Given the description of an element on the screen output the (x, y) to click on. 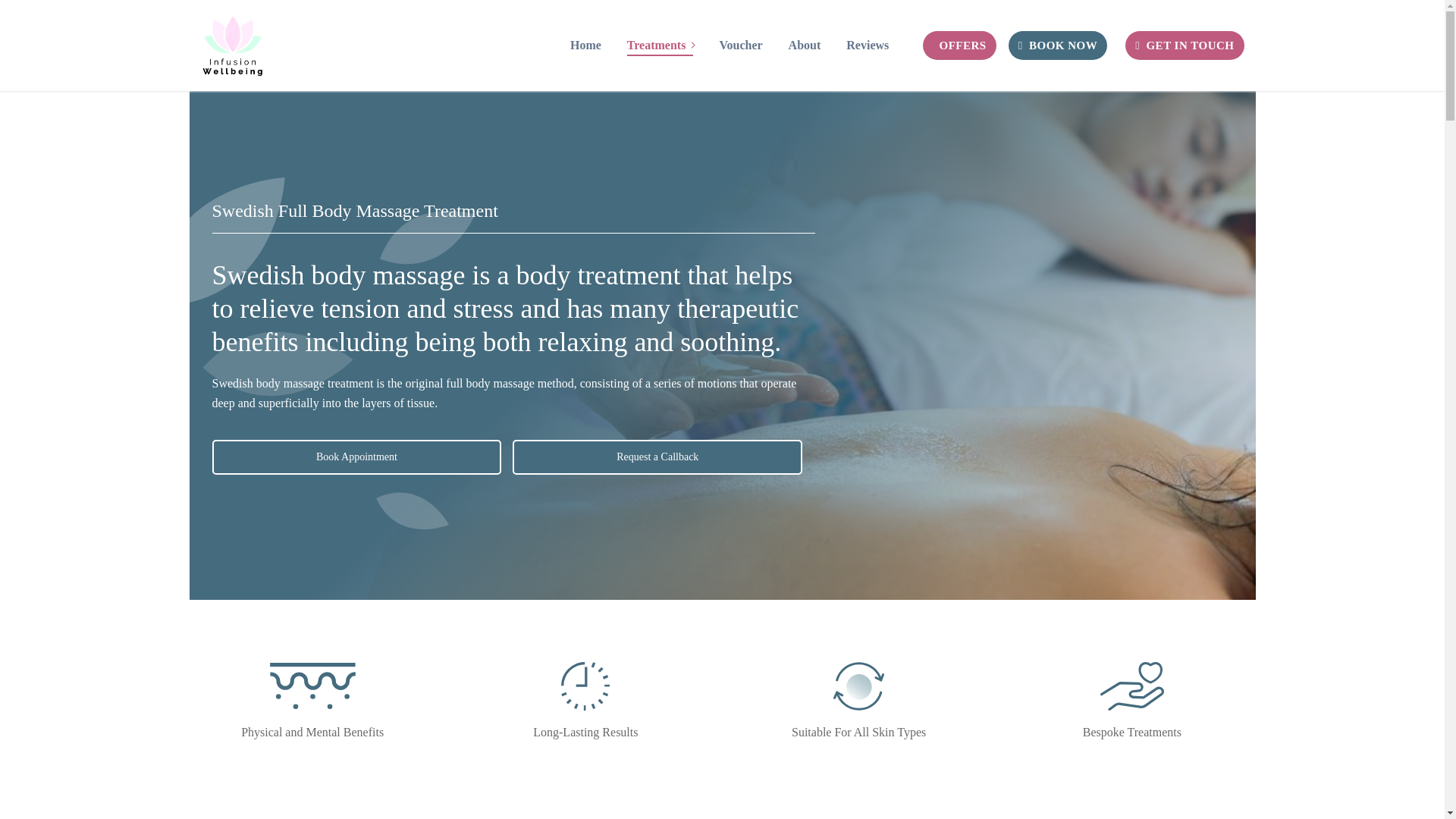
bespoke-treatment-icon (1131, 685)
skin-tone-muscle-tension-icon (312, 685)
quick-recovery-icon (858, 685)
long-lasting-results-icon (660, 45)
Massage Booking (585, 685)
Home (357, 457)
